Given the description of an element on the screen output the (x, y) to click on. 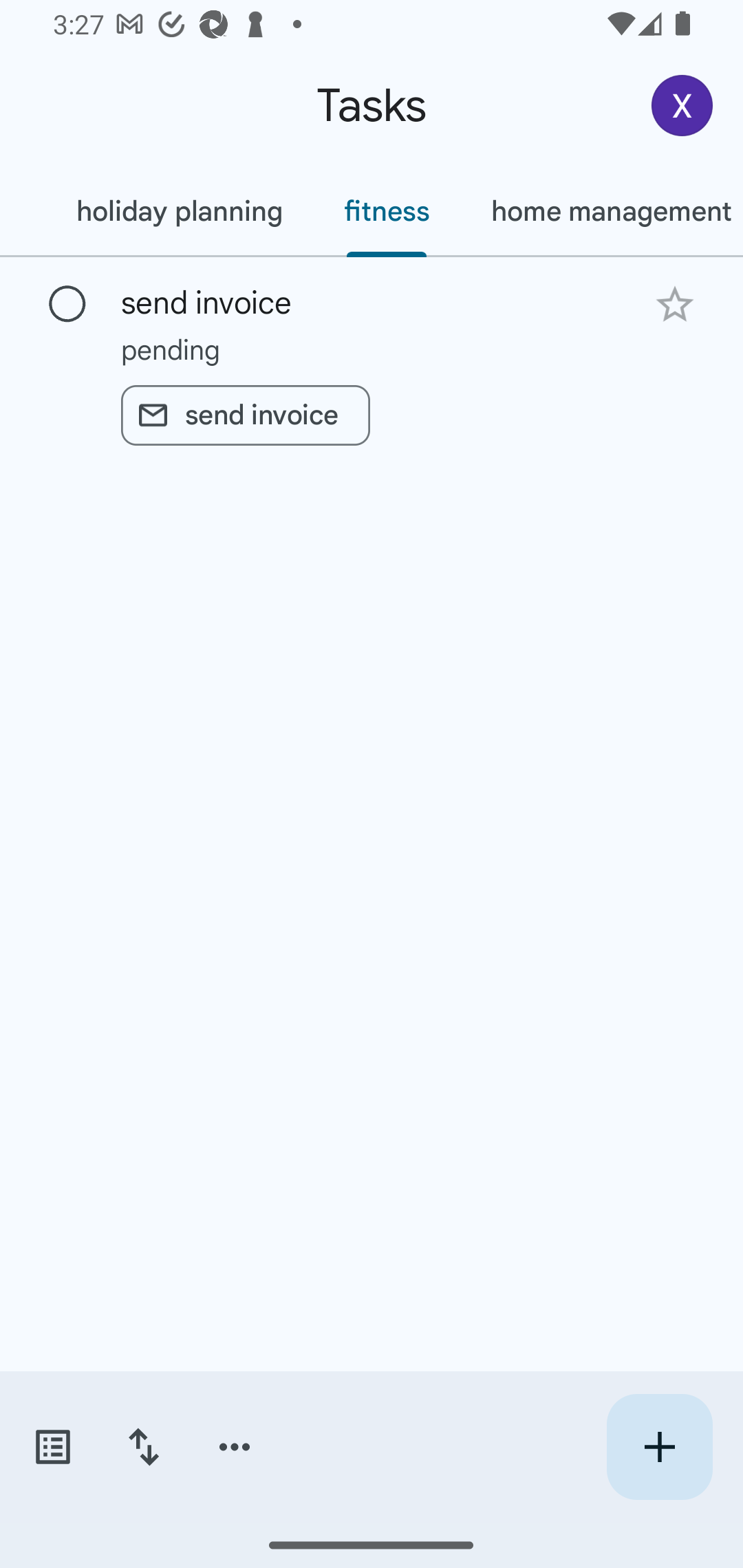
holiday planning (178, 211)
home management (601, 211)
Add star (674, 303)
Mark as complete (67, 304)
pending (371, 349)
send invoice Related link (245, 415)
Switch task lists (52, 1447)
Create new task (659, 1446)
Change sort order (143, 1446)
More options (234, 1446)
